Given the description of an element on the screen output the (x, y) to click on. 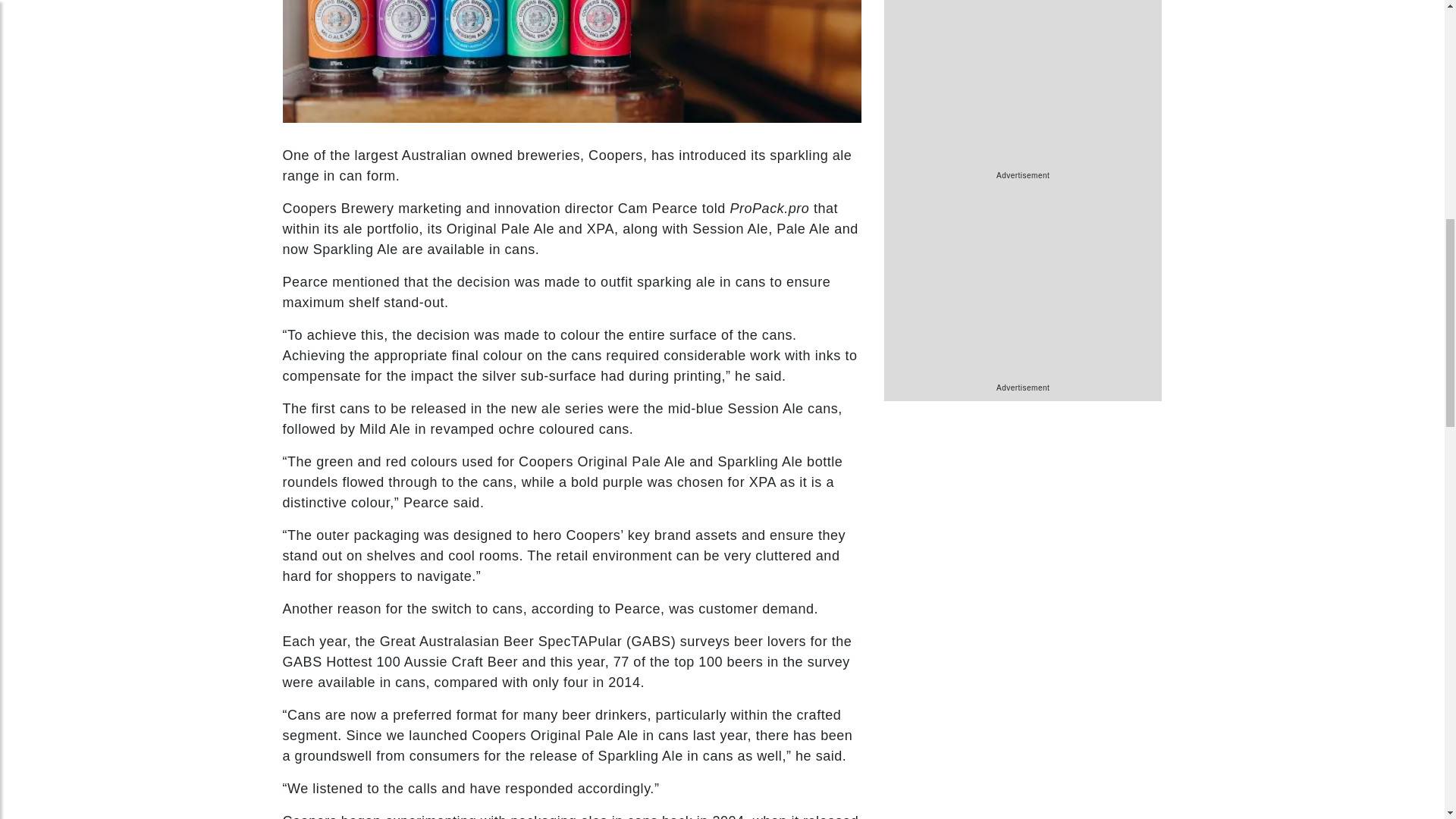
3rd party ad content (1022, 287)
3rd party ad content (1022, 84)
